Given the description of an element on the screen output the (x, y) to click on. 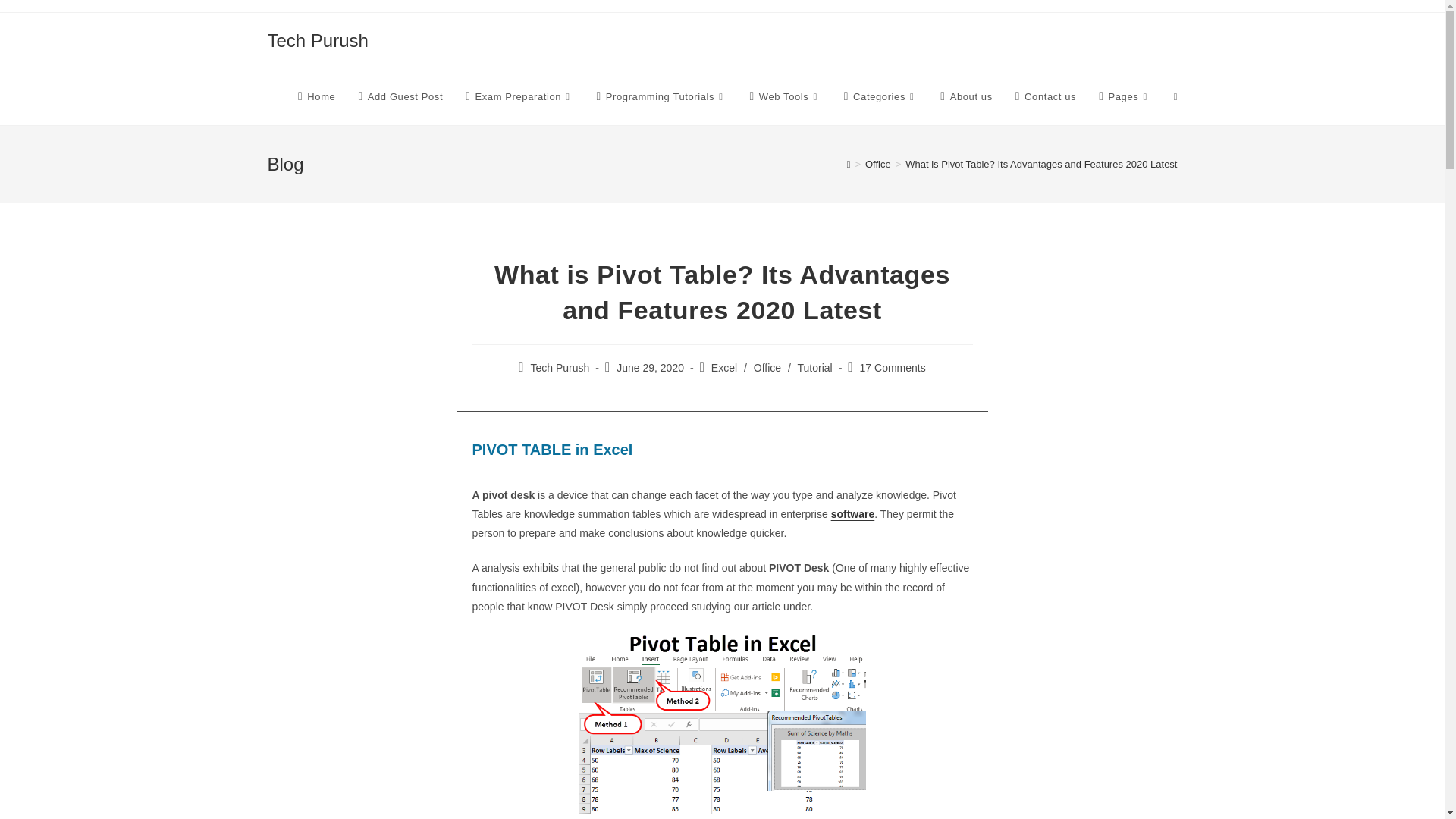
Home (316, 96)
Posts by Tech Purush (560, 367)
Exam Preparation (519, 96)
Contact us (1045, 96)
Pages (1124, 96)
About us (965, 96)
Tech Purush (317, 40)
Add Guest Post (400, 96)
Web Tools (785, 96)
Categories (881, 96)
Programming Tutorials (661, 96)
